Given the description of an element on the screen output the (x, y) to click on. 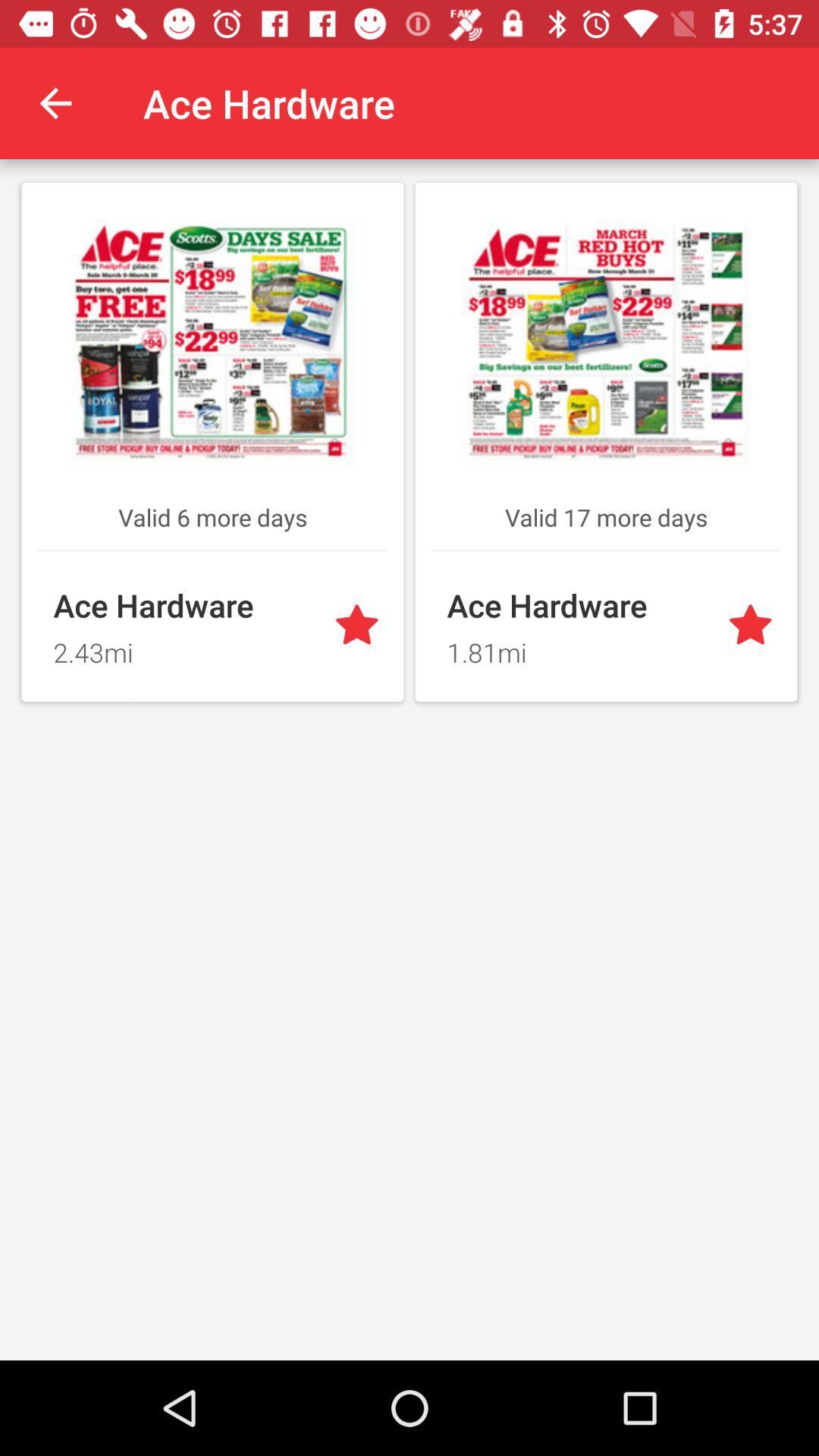
choose icon below the ace hardware (184, 647)
